Given the description of an element on the screen output the (x, y) to click on. 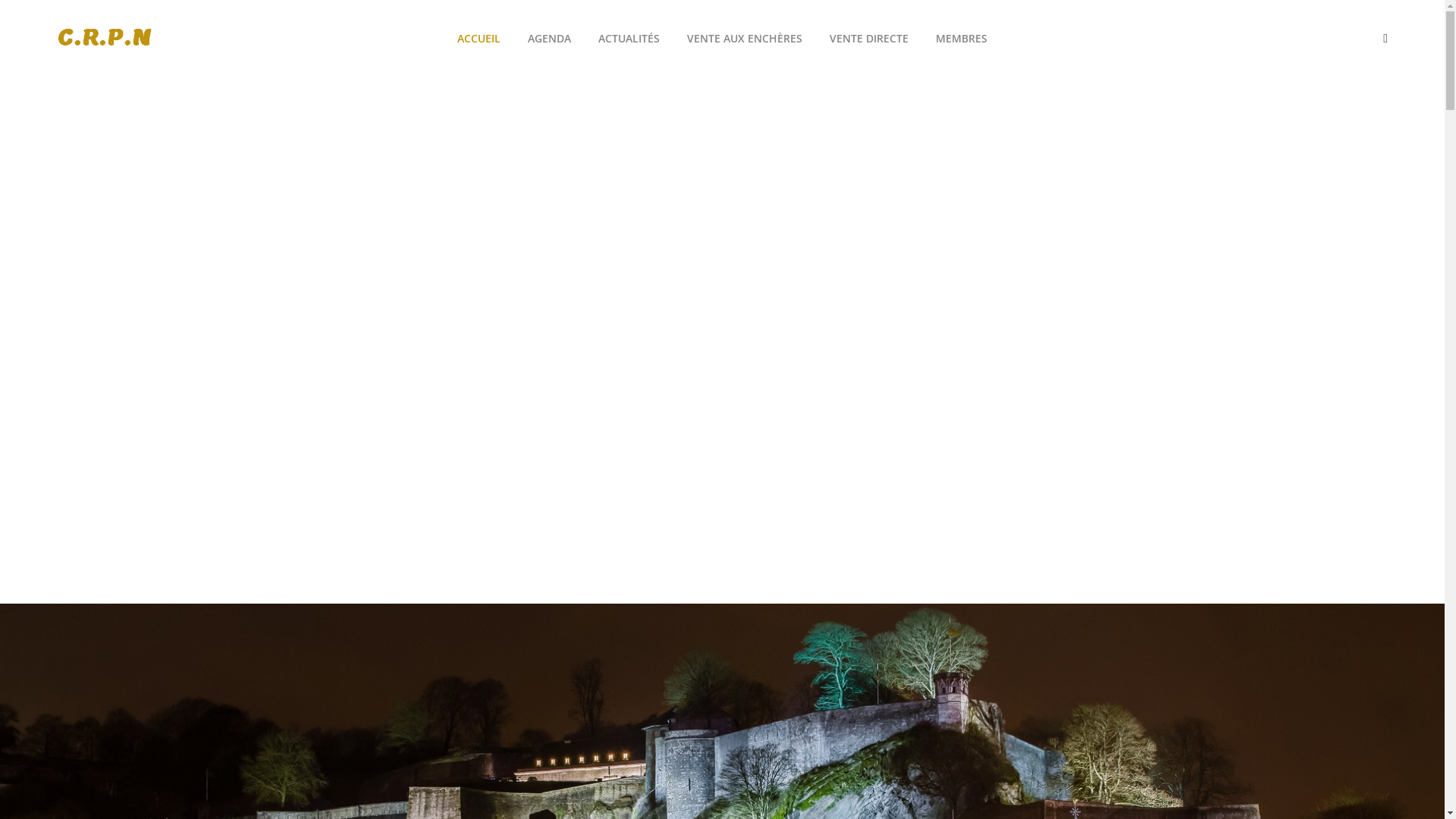
ACCUEIL Element type: text (478, 38)
MEMBRES Element type: text (961, 38)
VENTE DIRECTE Element type: text (868, 38)
AGENDA Element type: text (549, 38)
